Given the description of an element on the screen output the (x, y) to click on. 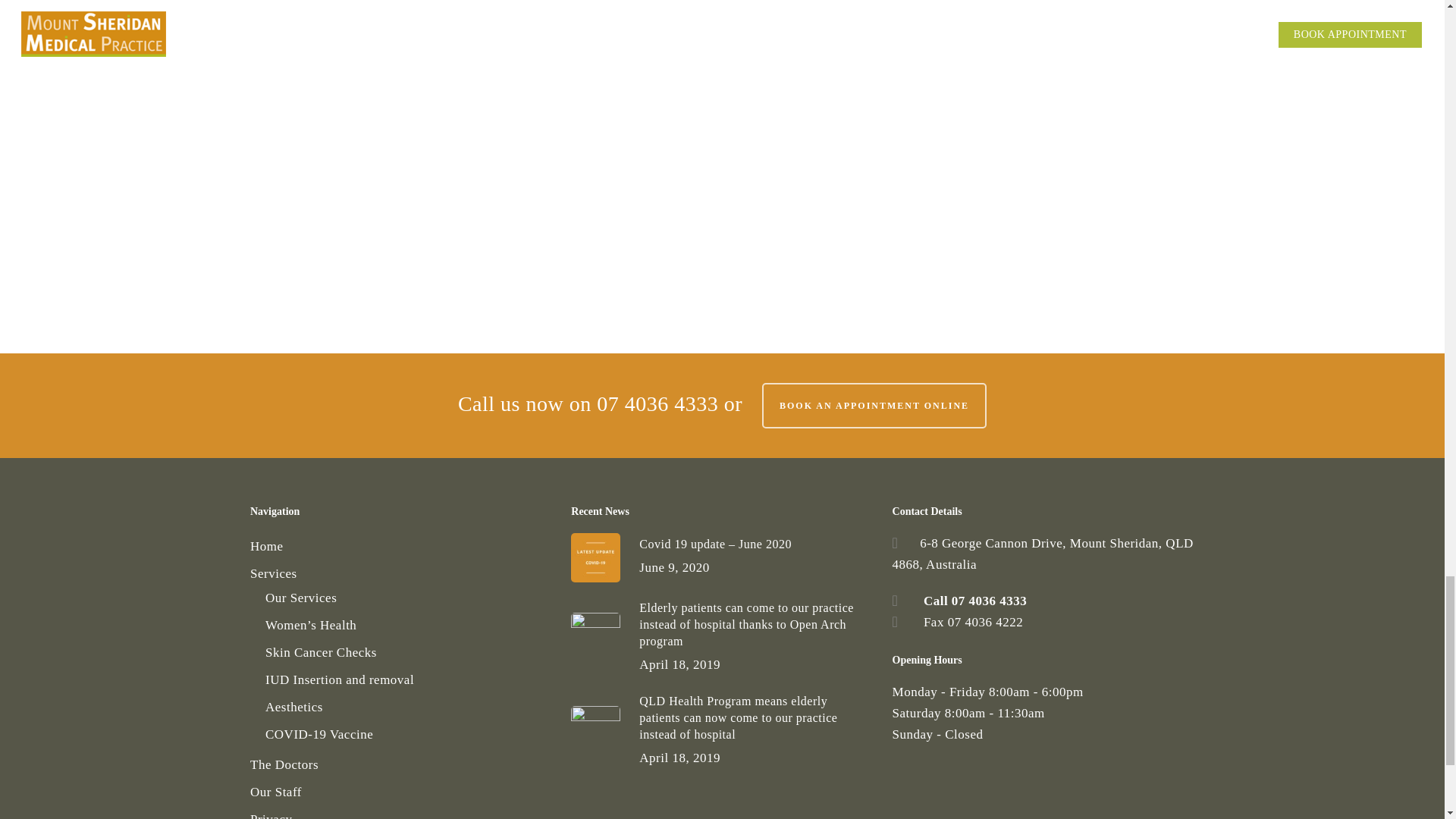
COVID-19 Vaccine (407, 734)
Privacy (400, 814)
BOOK AN APPOINTMENT ONLINE (874, 405)
The Doctors (400, 764)
IUD Insertion and removal (407, 680)
Services (400, 573)
Our Staff (400, 792)
Our Services (407, 598)
Home (400, 546)
Skin Cancer Checks (407, 652)
